Given the description of an element on the screen output the (x, y) to click on. 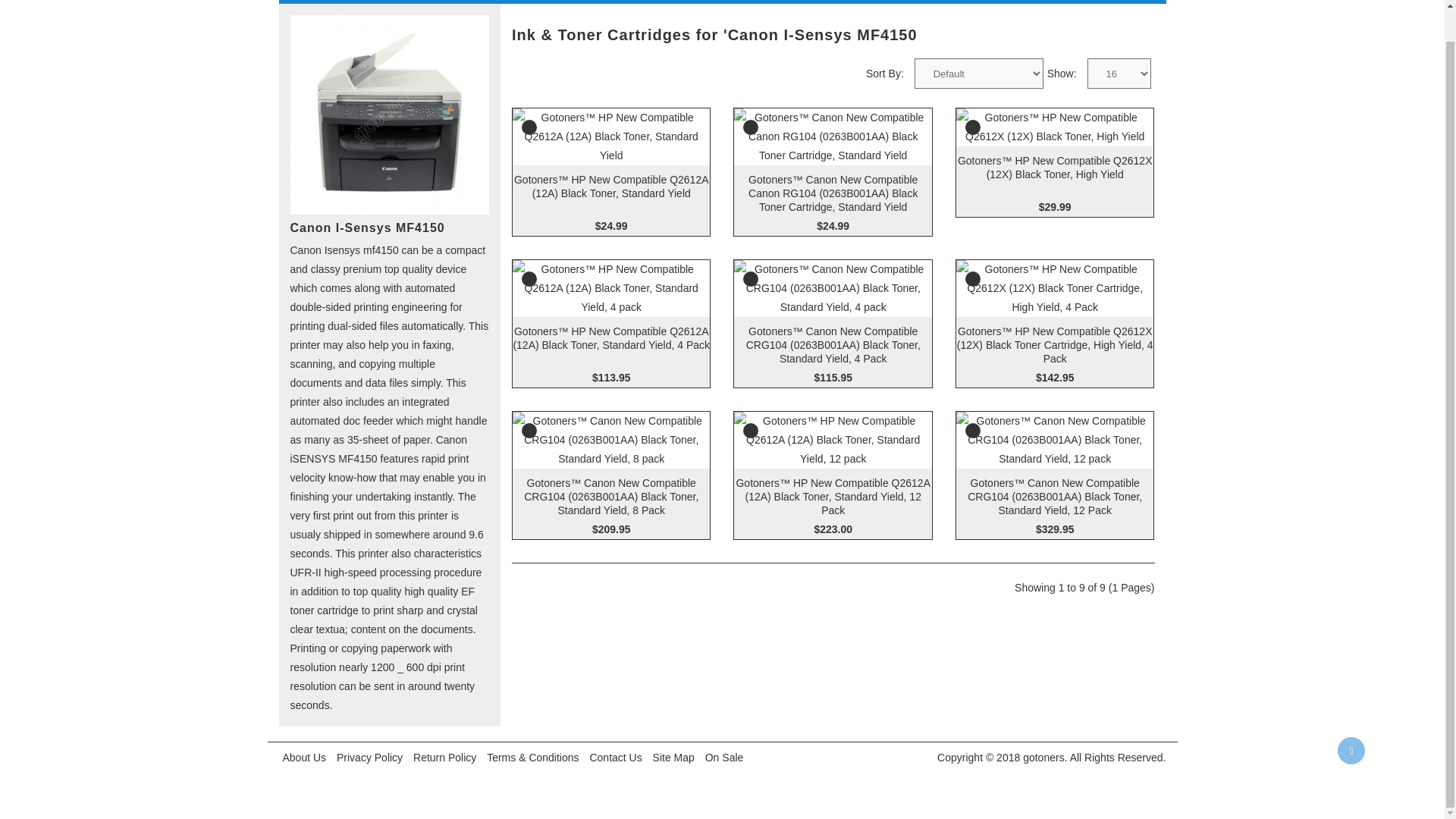
Privacy Policy (369, 757)
Site Map (673, 757)
About Us (304, 757)
Return Policy (444, 757)
Contact Us (615, 757)
On Sale (724, 757)
